Given the description of an element on the screen output the (x, y) to click on. 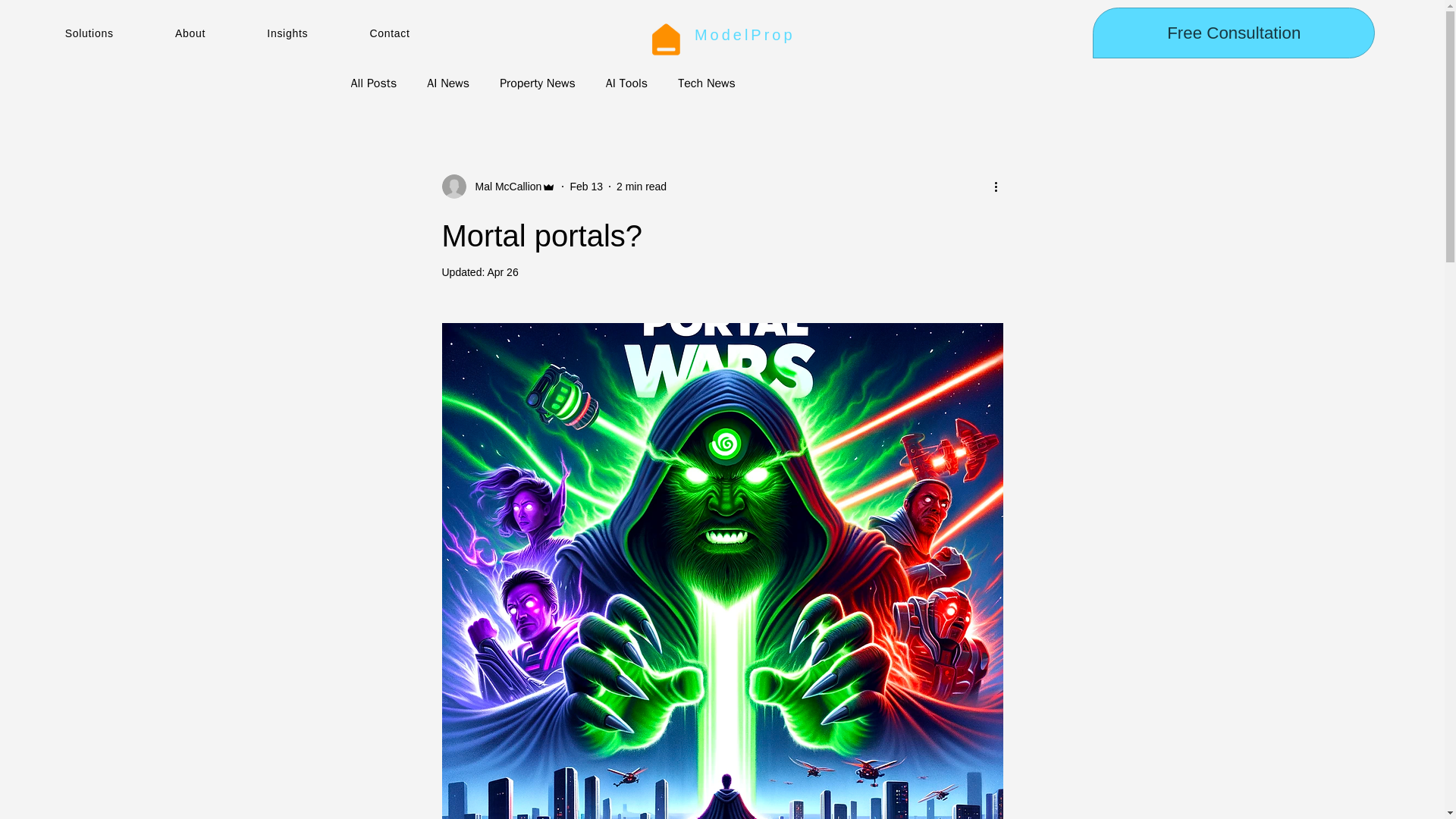
Tech News (706, 83)
AI News (447, 83)
About (220, 33)
Property News (537, 83)
Apr 26 (502, 272)
Mal McCallion (503, 186)
All Posts (373, 83)
Solutions (119, 33)
ModelProp (744, 34)
AI Tools (626, 83)
